Given the description of an element on the screen output the (x, y) to click on. 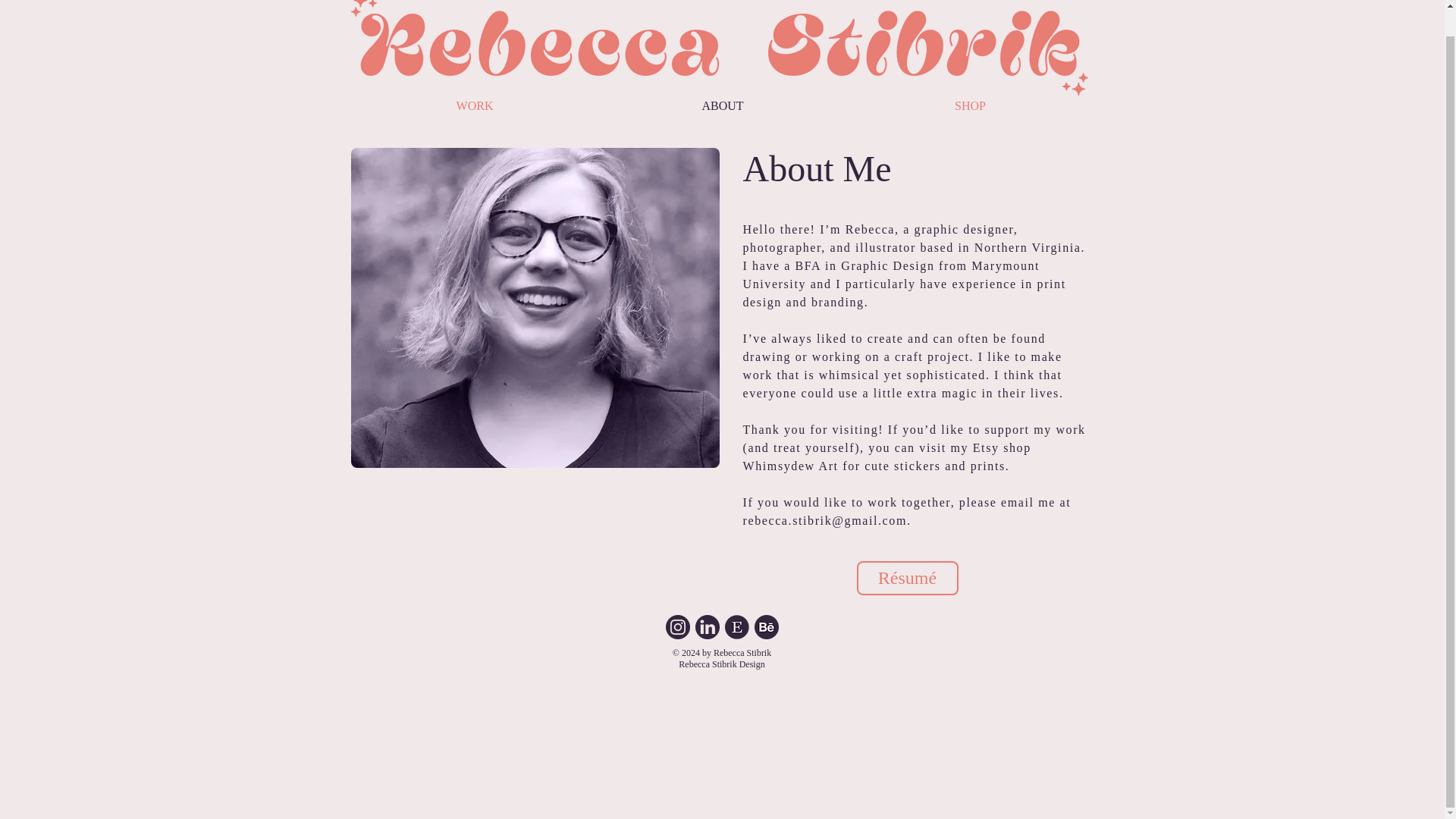
SHOP (969, 106)
ABOUT (722, 106)
WORK (474, 106)
About Me Picture.jpg (534, 307)
Whimsydew Art (790, 465)
